Given the description of an element on the screen output the (x, y) to click on. 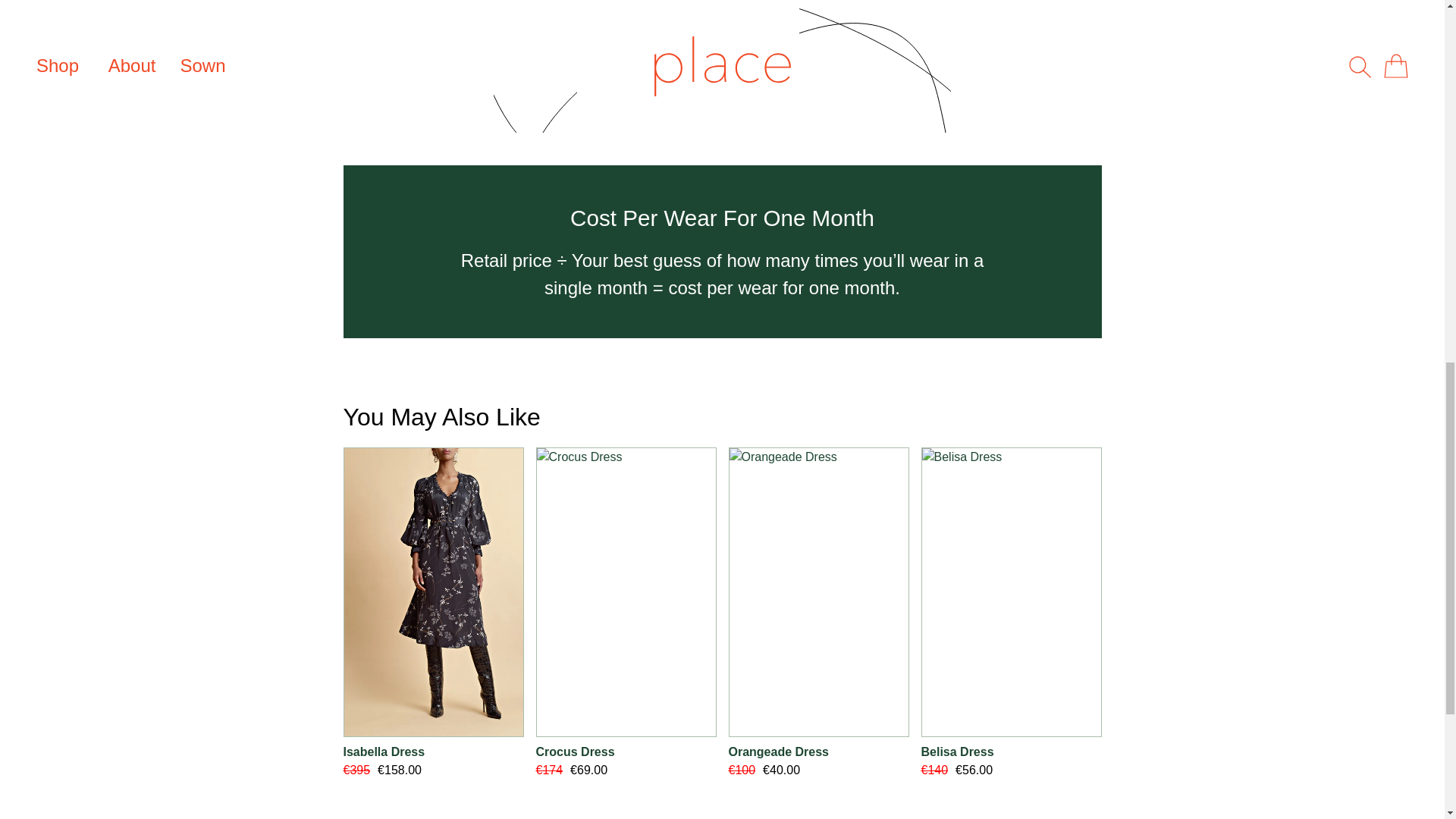
Belisa Dress (1010, 751)
Crocus Dress (625, 751)
Orangeade Dress (818, 751)
Isabella Dress (432, 751)
